Given the description of an element on the screen output the (x, y) to click on. 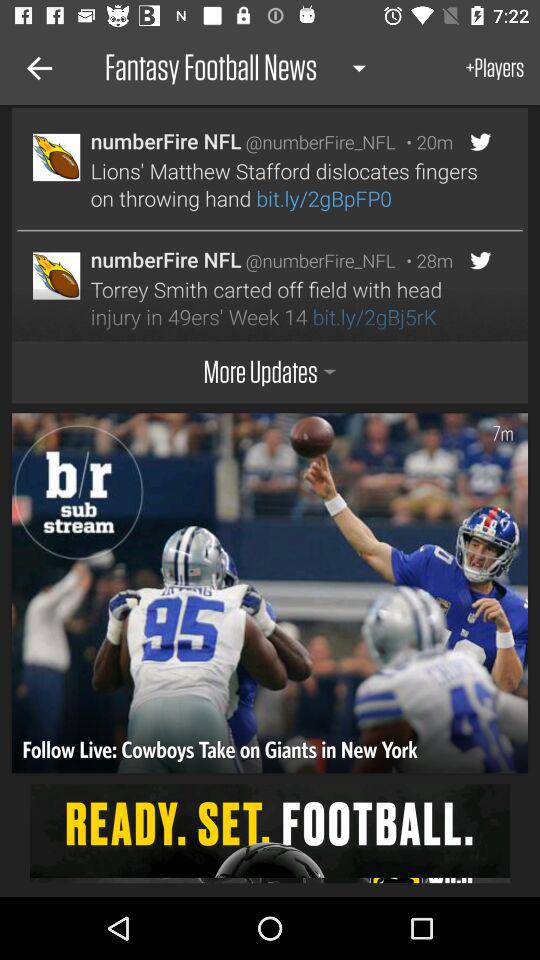
choose +players icon (495, 67)
